Given the description of an element on the screen output the (x, y) to click on. 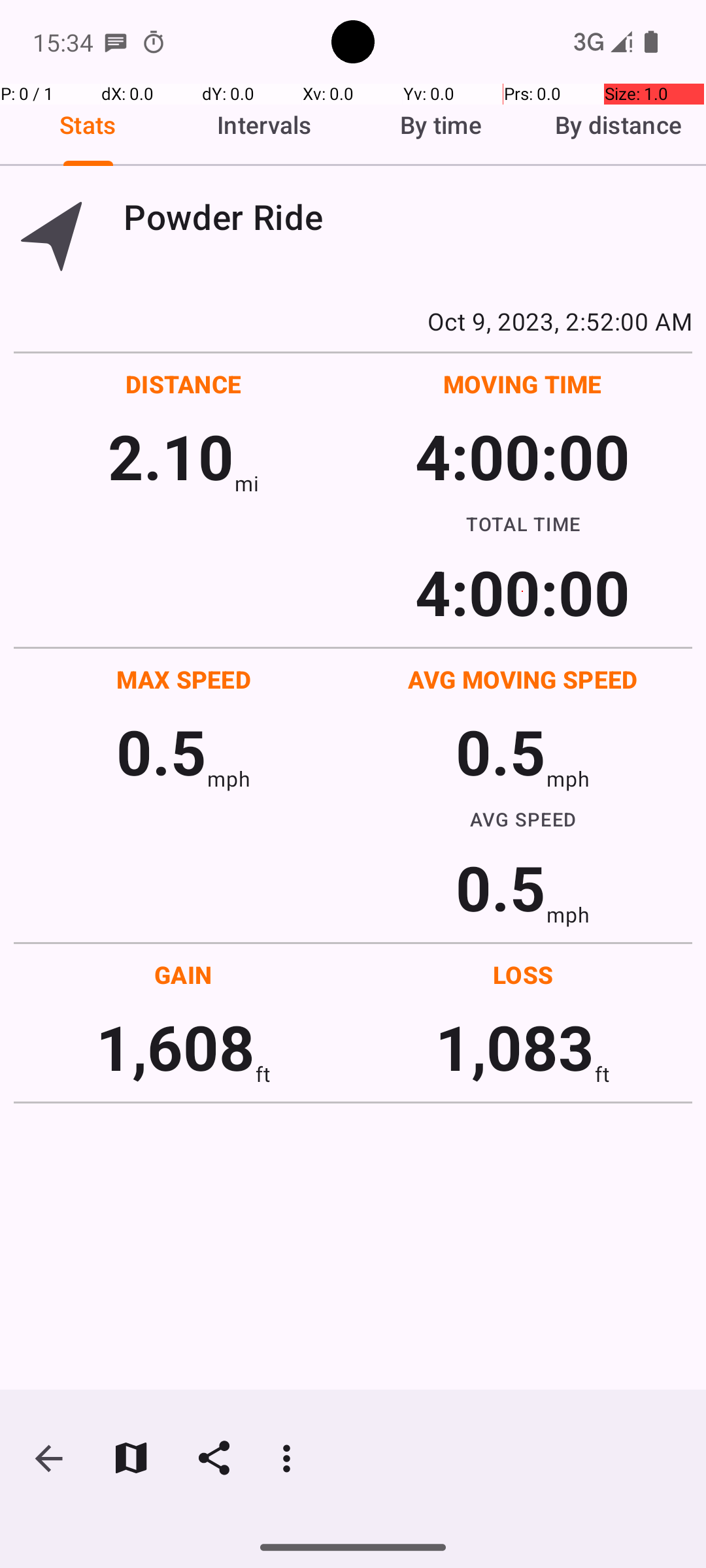
Powder Ride Element type: android.widget.TextView (407, 216)
Oct 9, 2023, 2:52:00 AM Element type: android.widget.TextView (352, 320)
2.10 Element type: android.widget.TextView (170, 455)
4:00:00 Element type: android.widget.TextView (522, 455)
0.5 Element type: android.widget.TextView (161, 750)
1,608 Element type: android.widget.TextView (175, 1045)
1,083 Element type: android.widget.TextView (514, 1045)
